Given the description of an element on the screen output the (x, y) to click on. 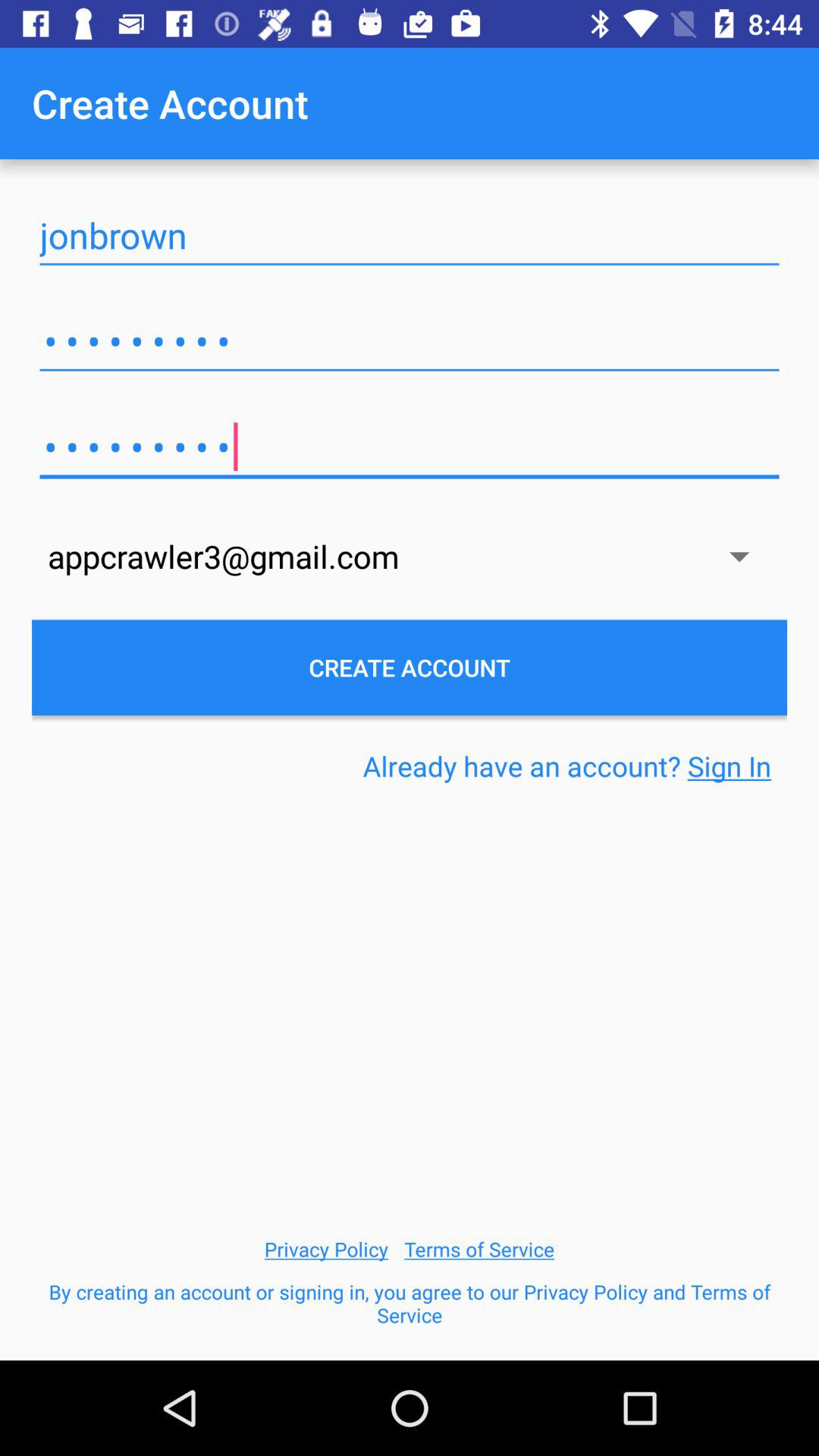
jump to jonbrown icon (409, 235)
